Given the description of an element on the screen output the (x, y) to click on. 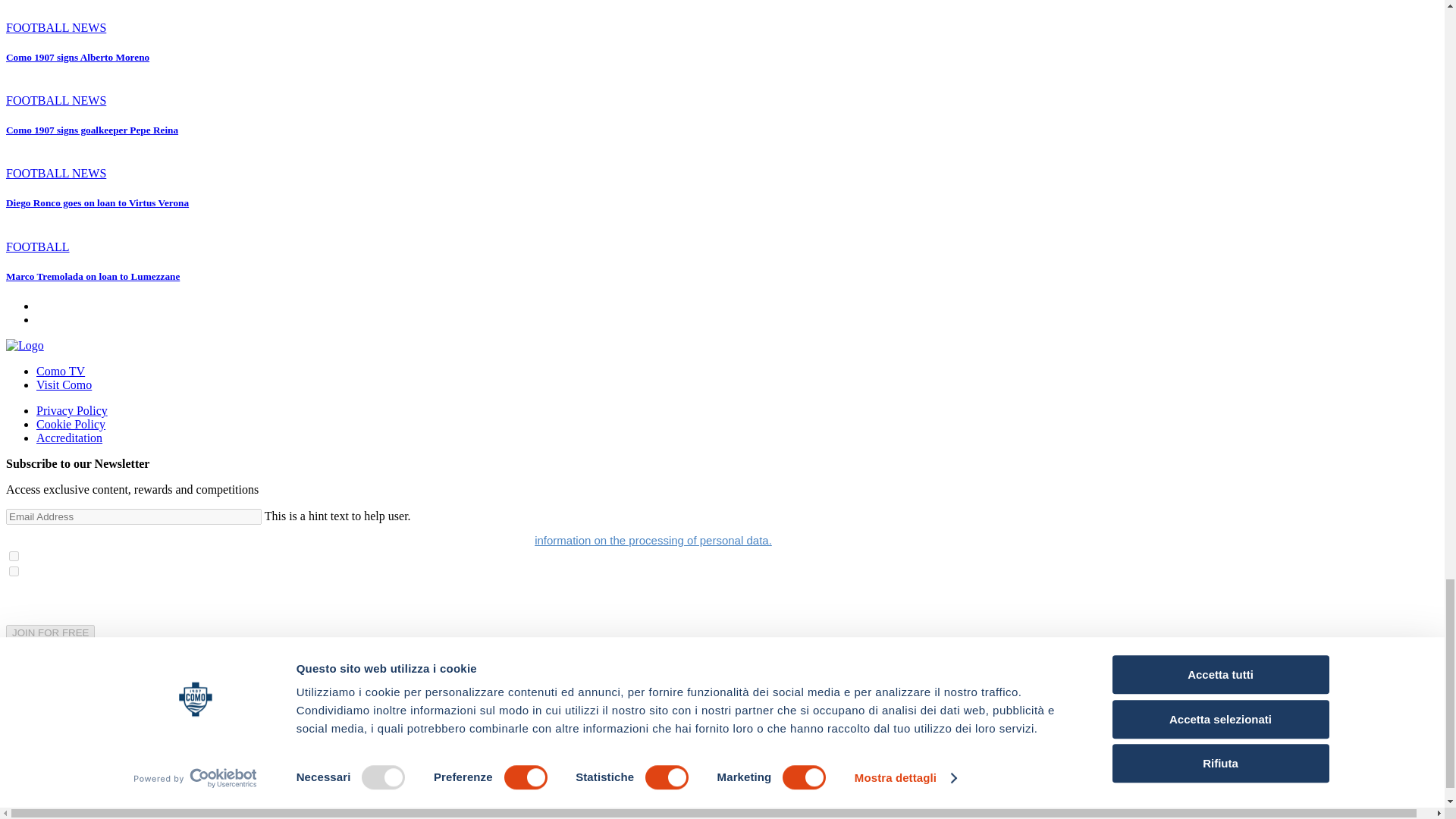
1 (13, 556)
1 (13, 571)
JOIN FOR FREE (49, 632)
